Given the description of an element on the screen output the (x, y) to click on. 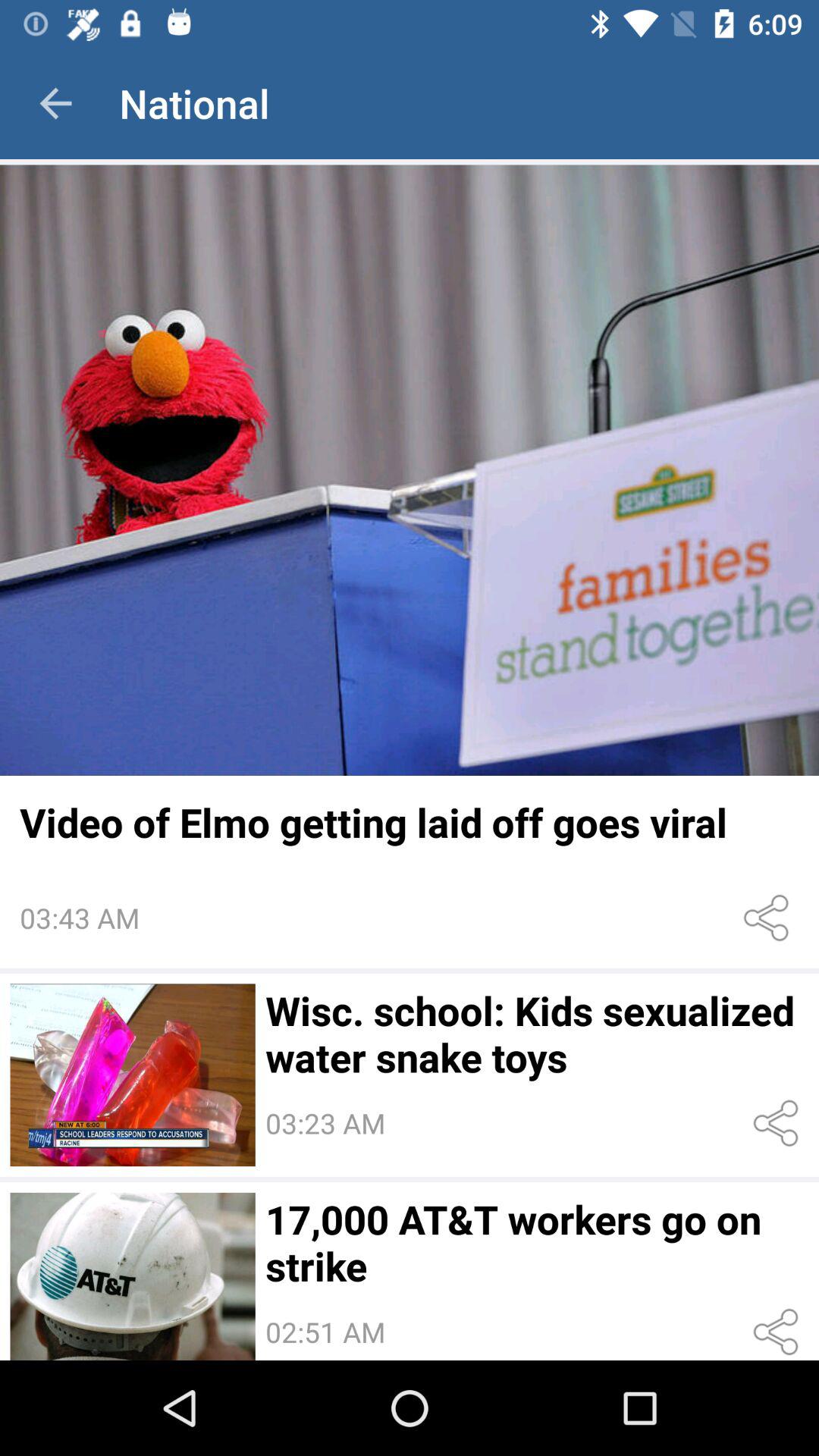
turn on the icon next to the national (55, 103)
